Given the description of an element on the screen output the (x, y) to click on. 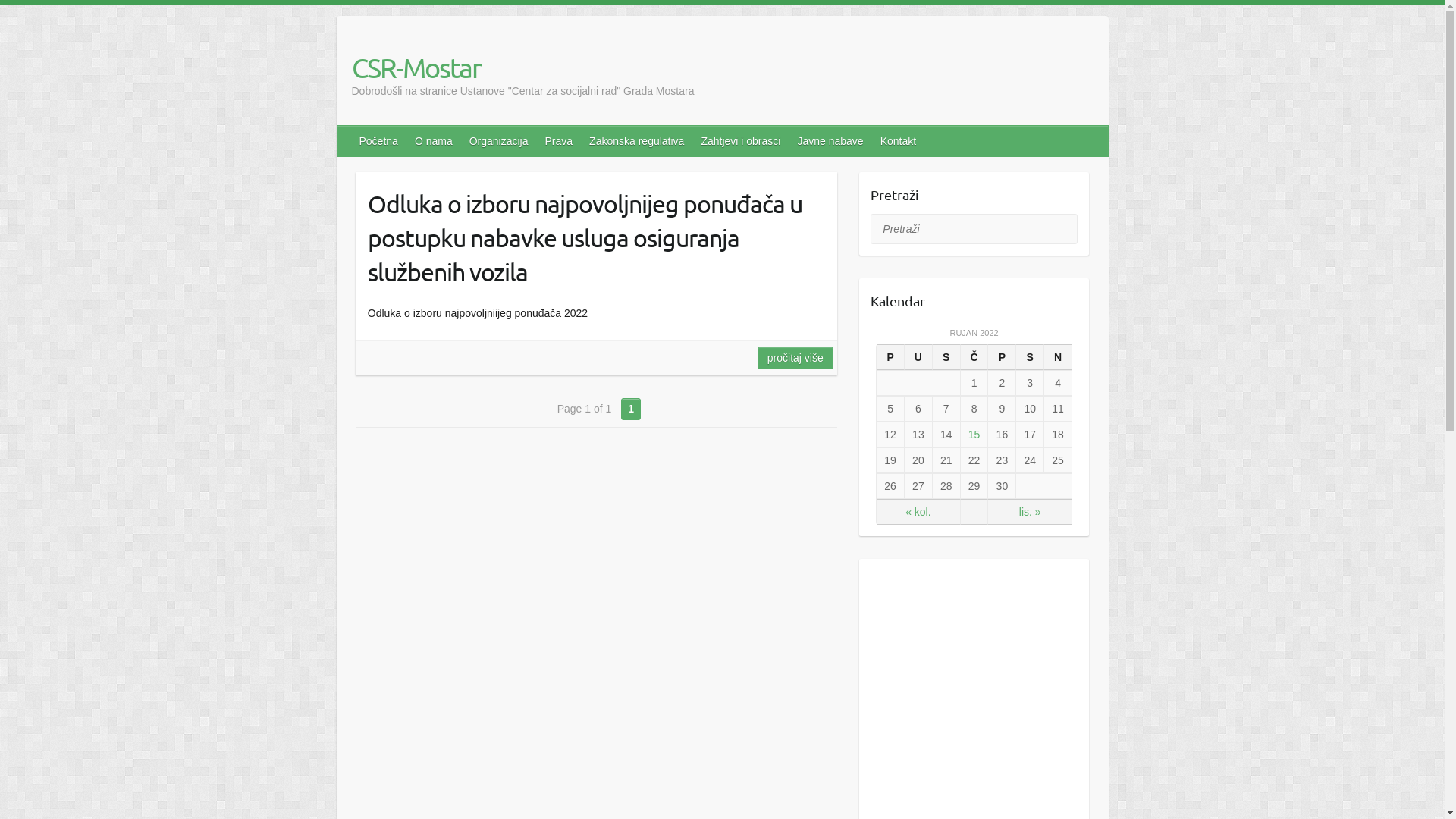
Kontakt Element type: text (898, 140)
15 Element type: text (974, 434)
Zahtjevi i obrasci Element type: text (741, 140)
Prava Element type: text (559, 140)
Javne nabave Element type: text (830, 140)
CSR-Mostar Element type: text (522, 67)
Zakonska regulativa Element type: text (637, 140)
Organizacija Element type: text (499, 140)
O nama Element type: text (434, 140)
